Given the description of an element on the screen output the (x, y) to click on. 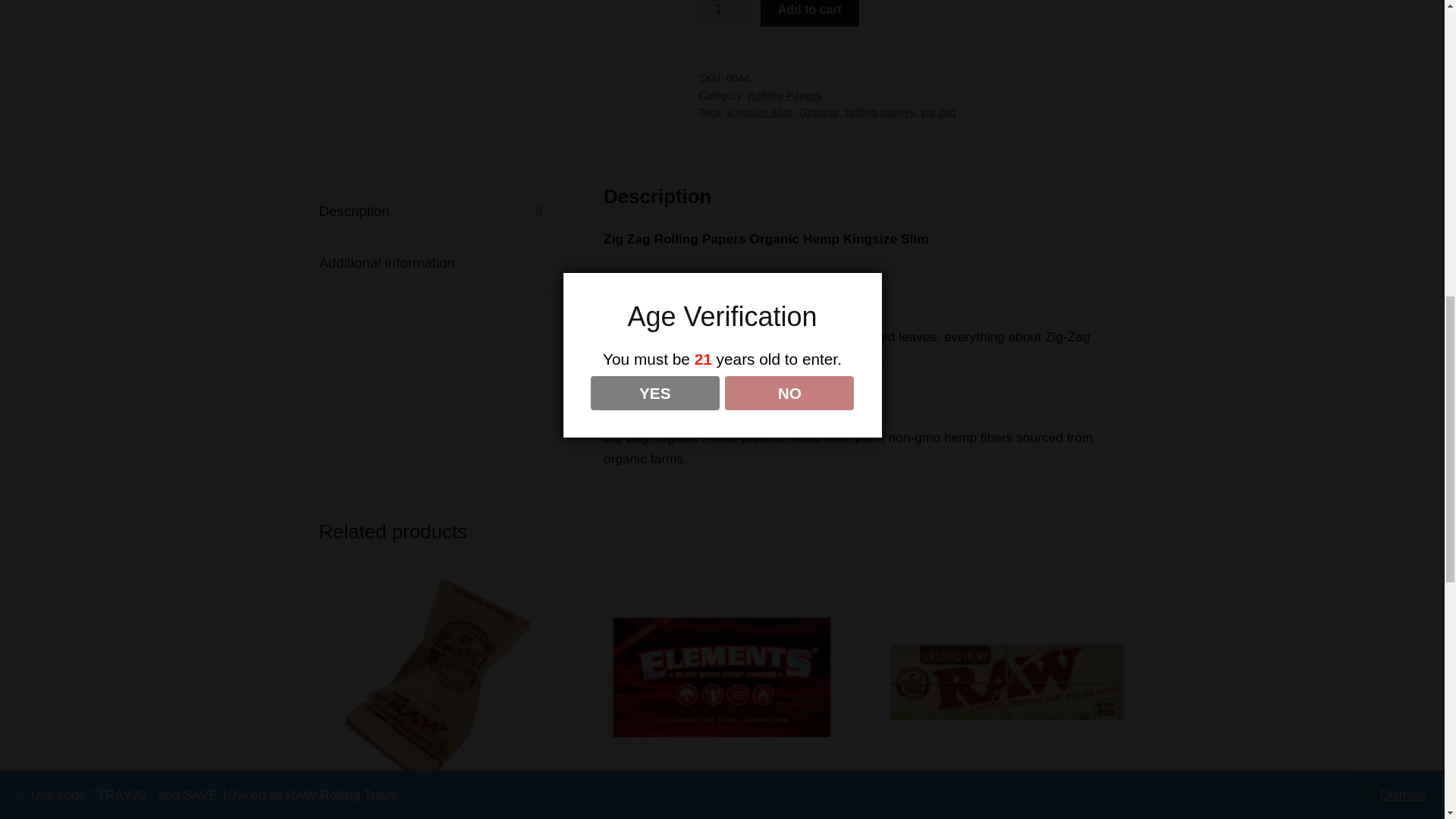
1 (723, 13)
